Given the description of an element on the screen output the (x, y) to click on. 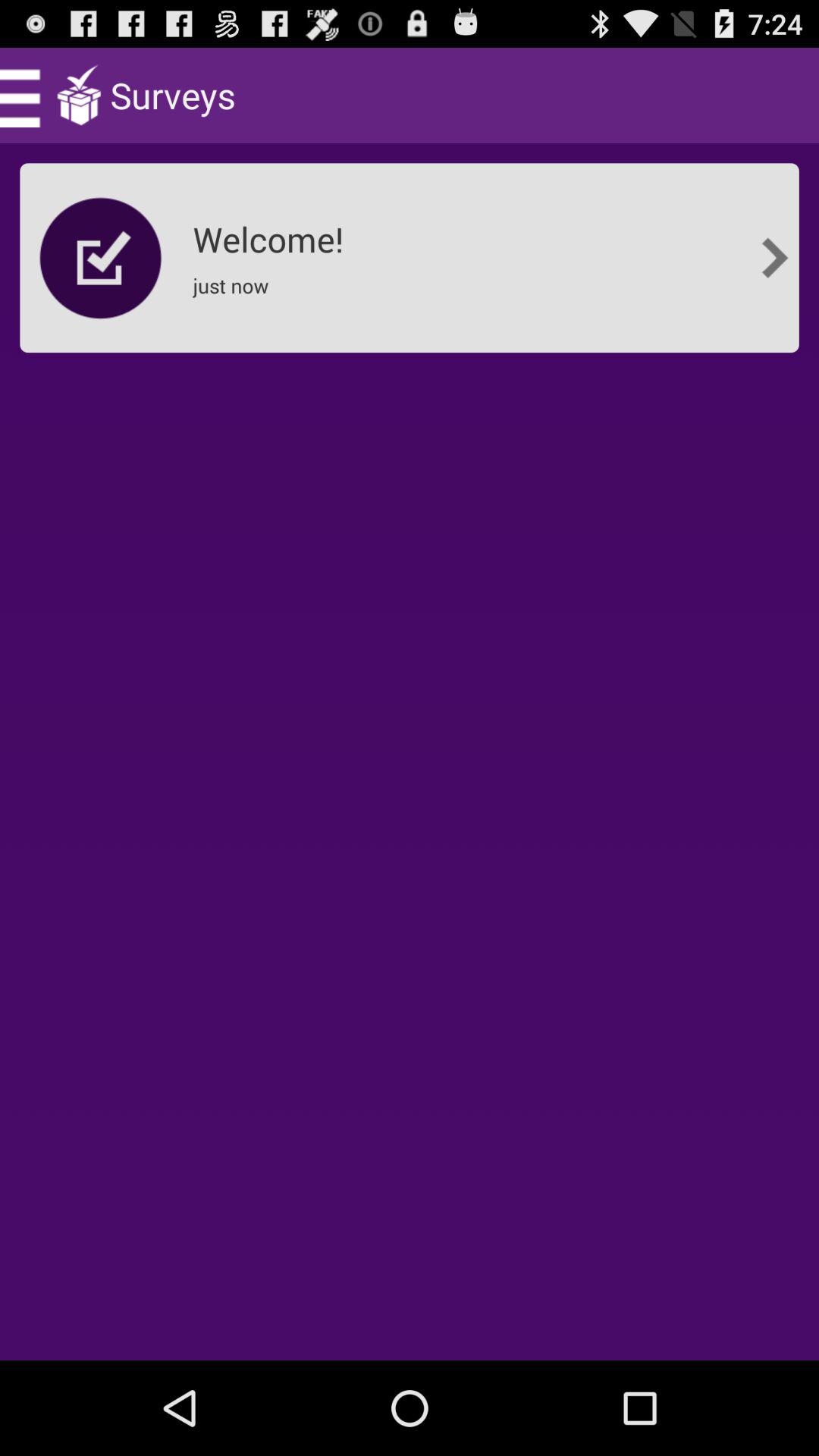
open the app below the surveys app (272, 234)
